Given the description of an element on the screen output the (x, y) to click on. 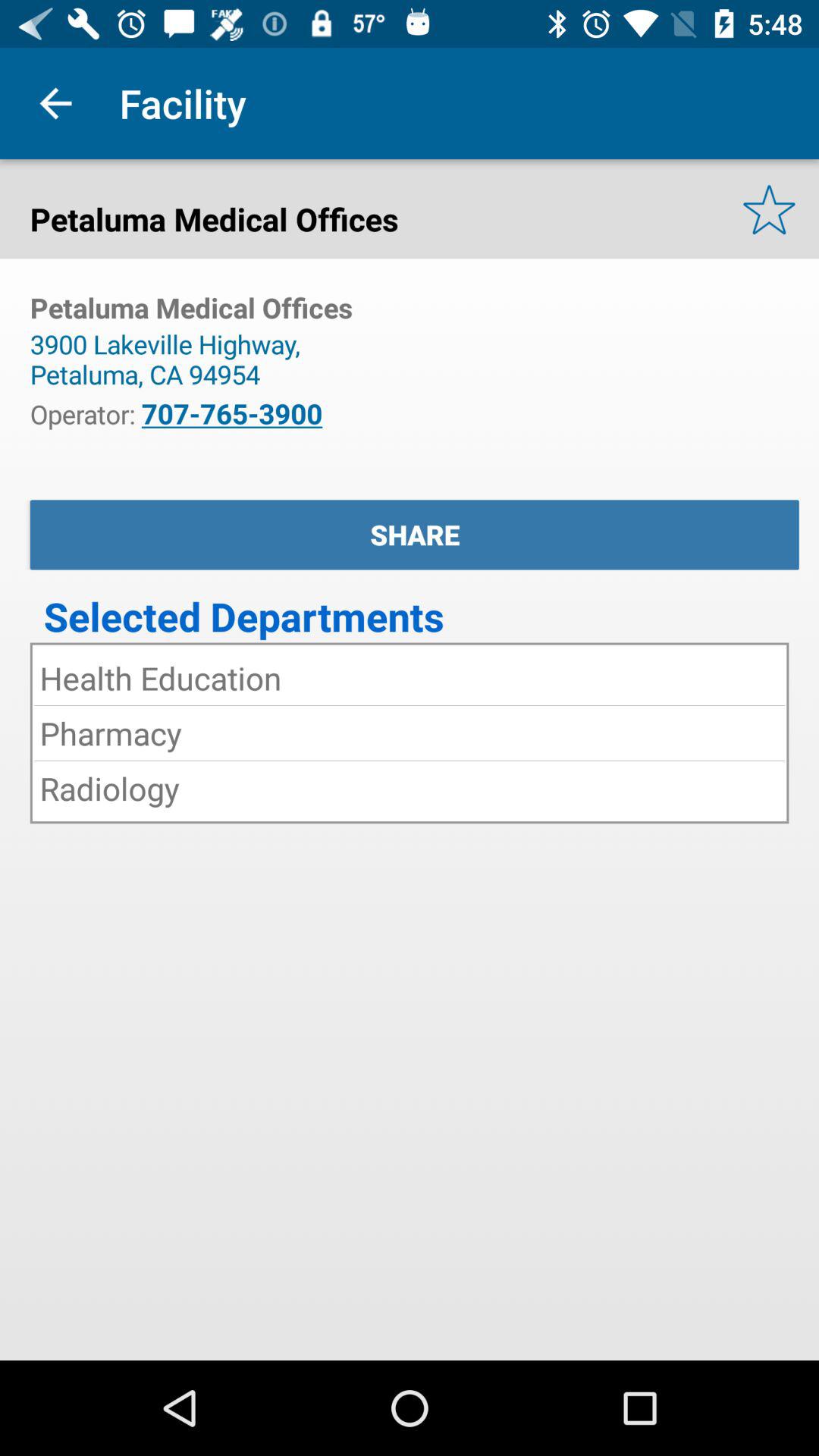
tap the 3900 lakeville highway (172, 358)
